Given the description of an element on the screen output the (x, y) to click on. 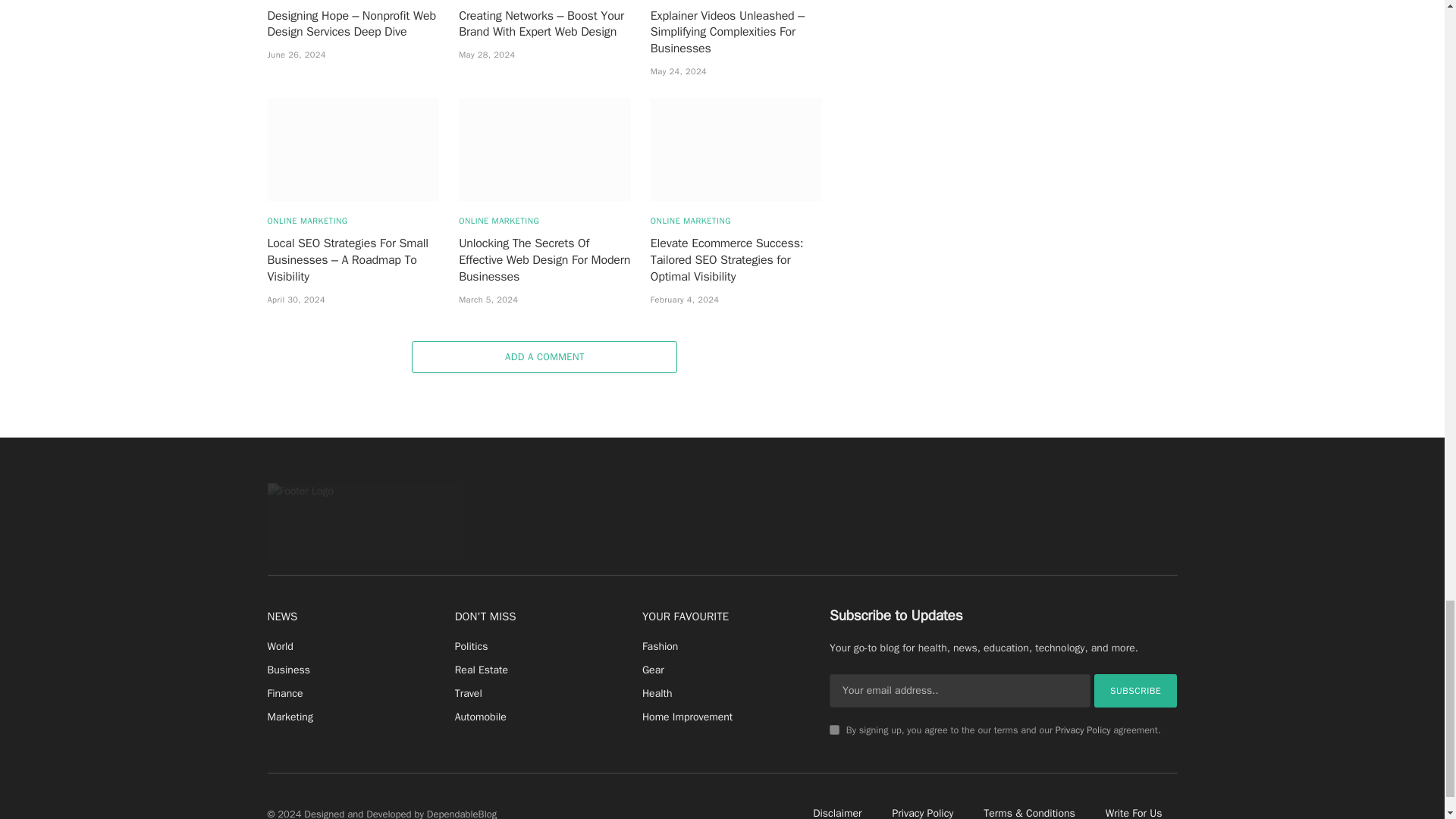
on (834, 729)
Subscribe (1135, 690)
